Given the description of an element on the screen output the (x, y) to click on. 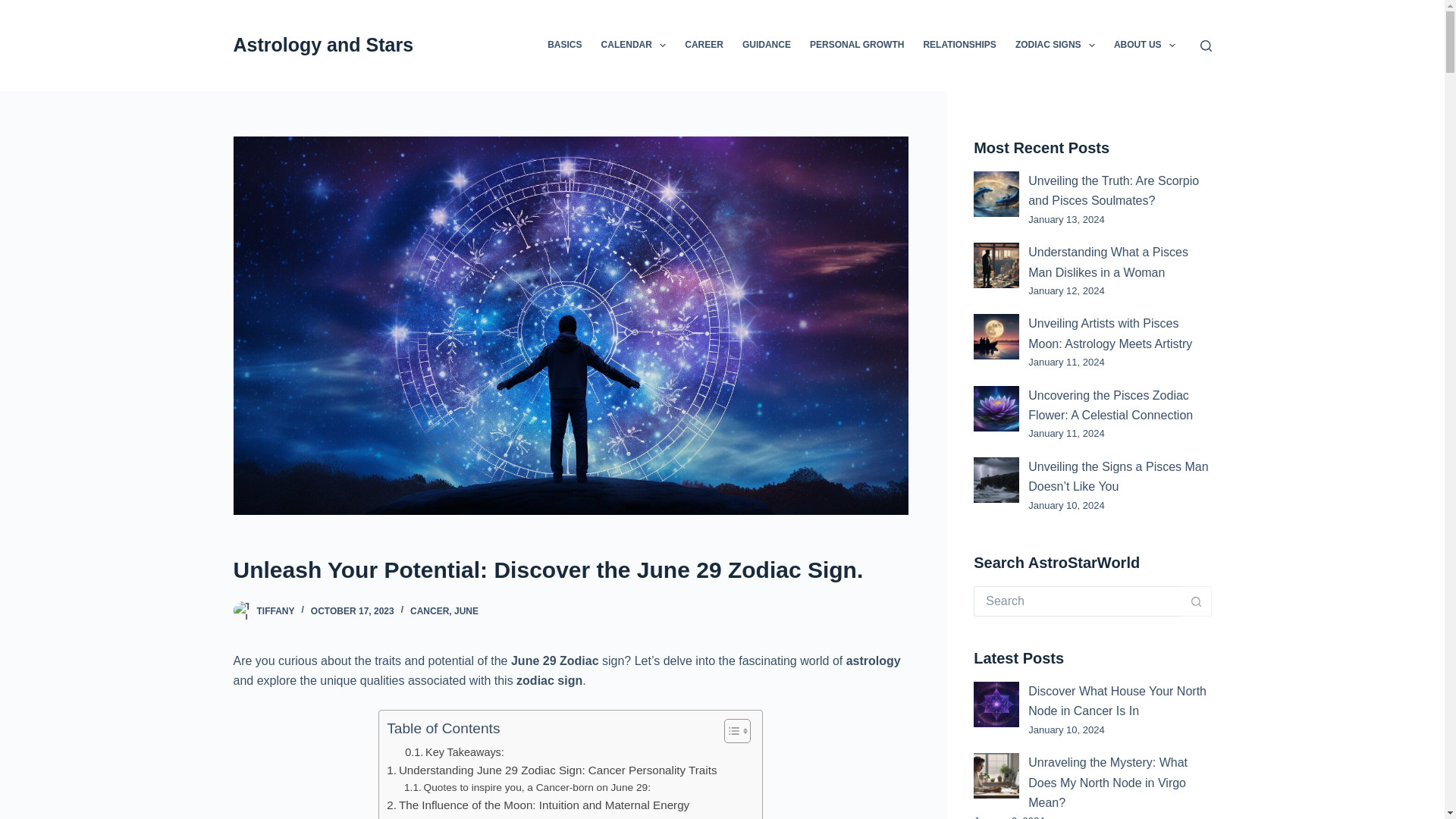
Astrology and Stars (322, 44)
ZODIAC SIGNS (1054, 45)
RELATIONSHIPS (960, 45)
GUIDANCE (765, 45)
Skip to content (15, 7)
Posts by Tiffany (275, 611)
Numerology Insights: Healing Abilities and Positive Energy (542, 816)
CAREER (704, 45)
Unleash Your Potential: Discover the June 29 Zodiac Sign. (570, 569)
Understanding June 29 Zodiac Sign: Cancer Personality Traits (551, 770)
Quotes to inspire you, a Cancer-born on June 29: (527, 787)
The Influence of the Moon: Intuition and Maternal Energy (537, 805)
PERSONAL GROWTH (855, 45)
CALENDAR (633, 45)
